Given the description of an element on the screen output the (x, y) to click on. 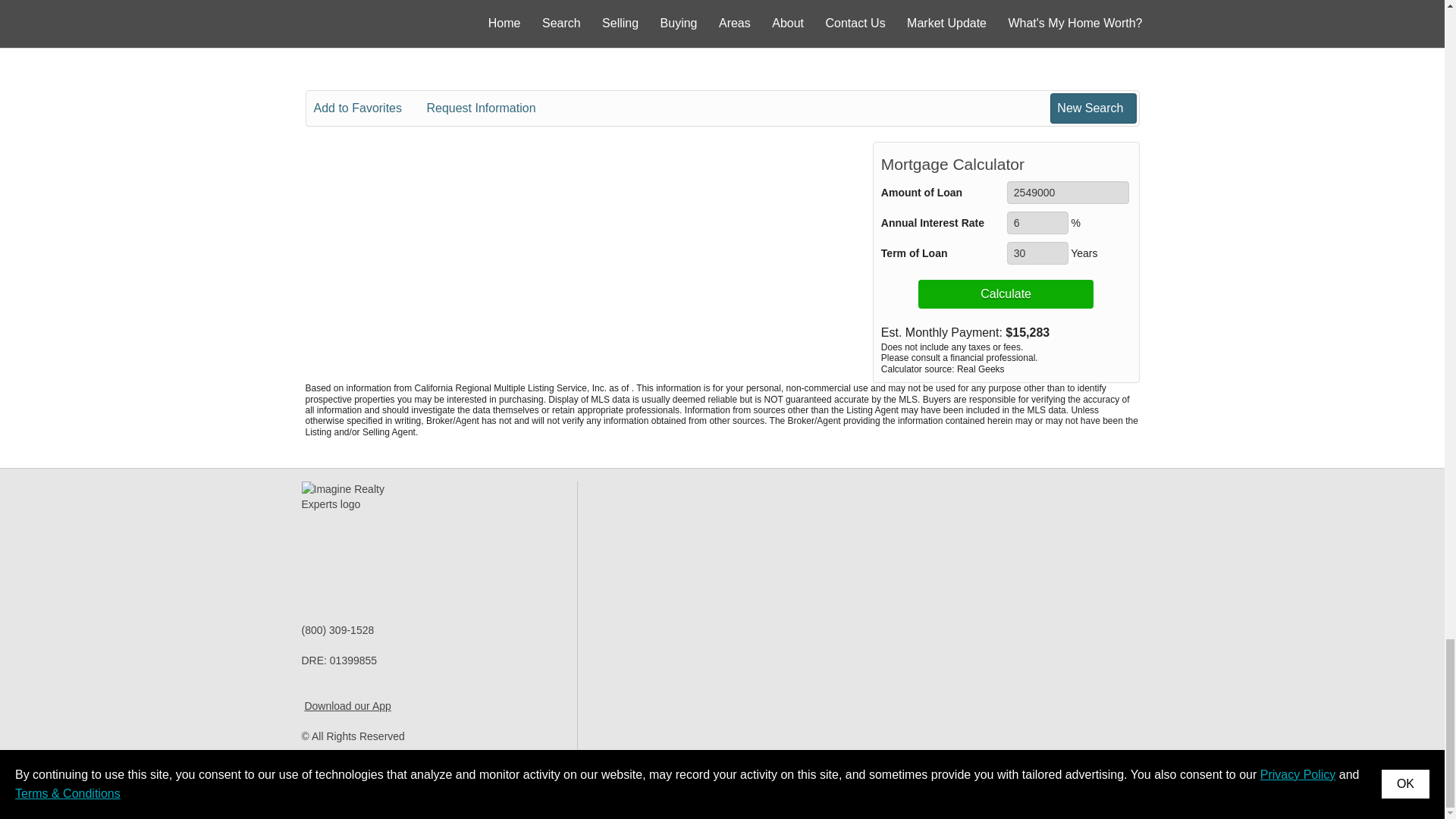
2549000 (1068, 191)
6 (1037, 222)
30 (1037, 252)
